Given the description of an element on the screen output the (x, y) to click on. 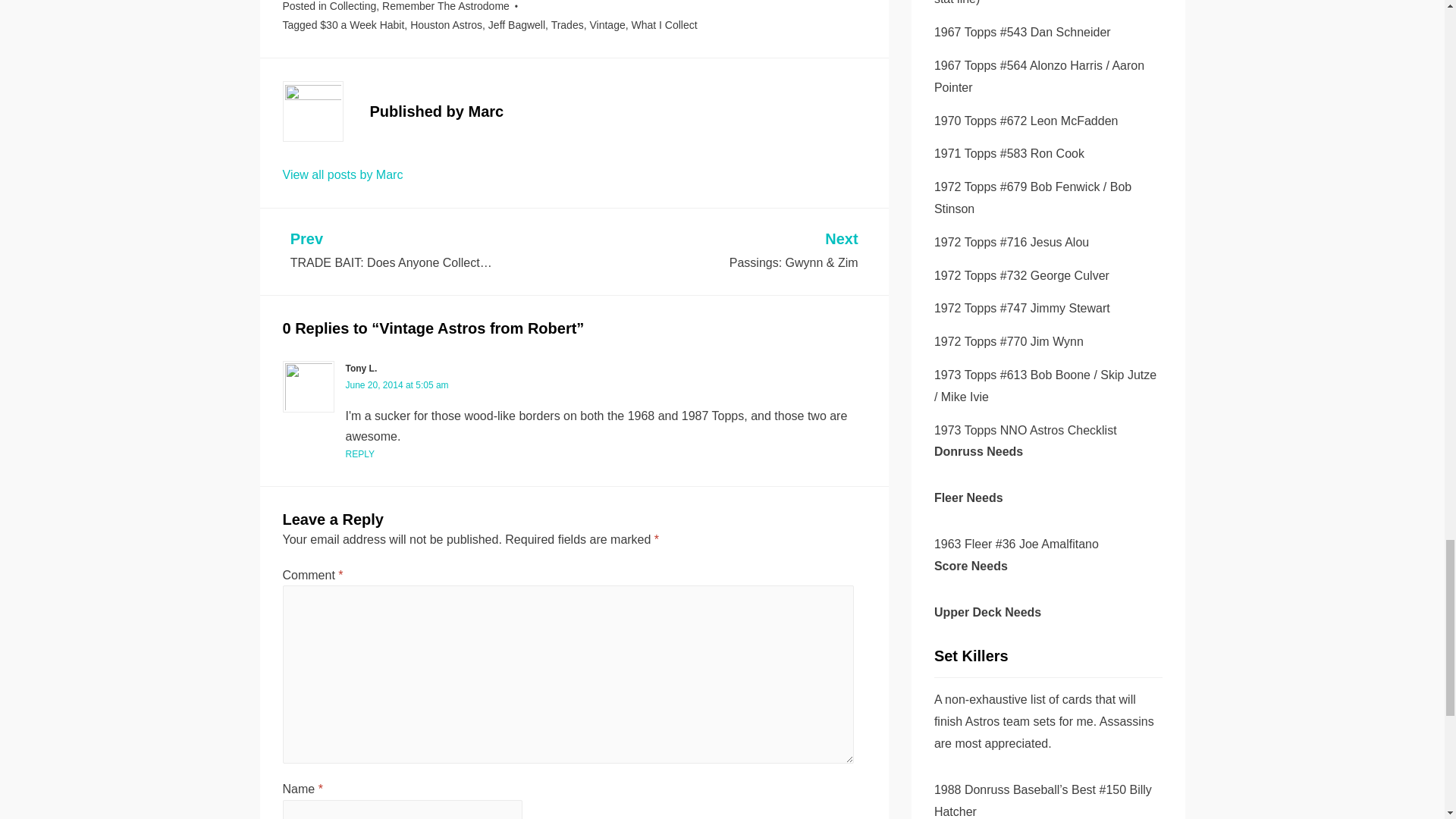
Houston Astros (445, 24)
Trades (567, 24)
REPLY (360, 453)
Tony L. (361, 368)
What I Collect (663, 24)
View all posts by Marc (342, 174)
Collecting (352, 6)
June 20, 2014 at 5:05 am (397, 385)
Jeff Bagwell (515, 24)
Remember The Astrodome (445, 6)
